Given the description of an element on the screen output the (x, y) to click on. 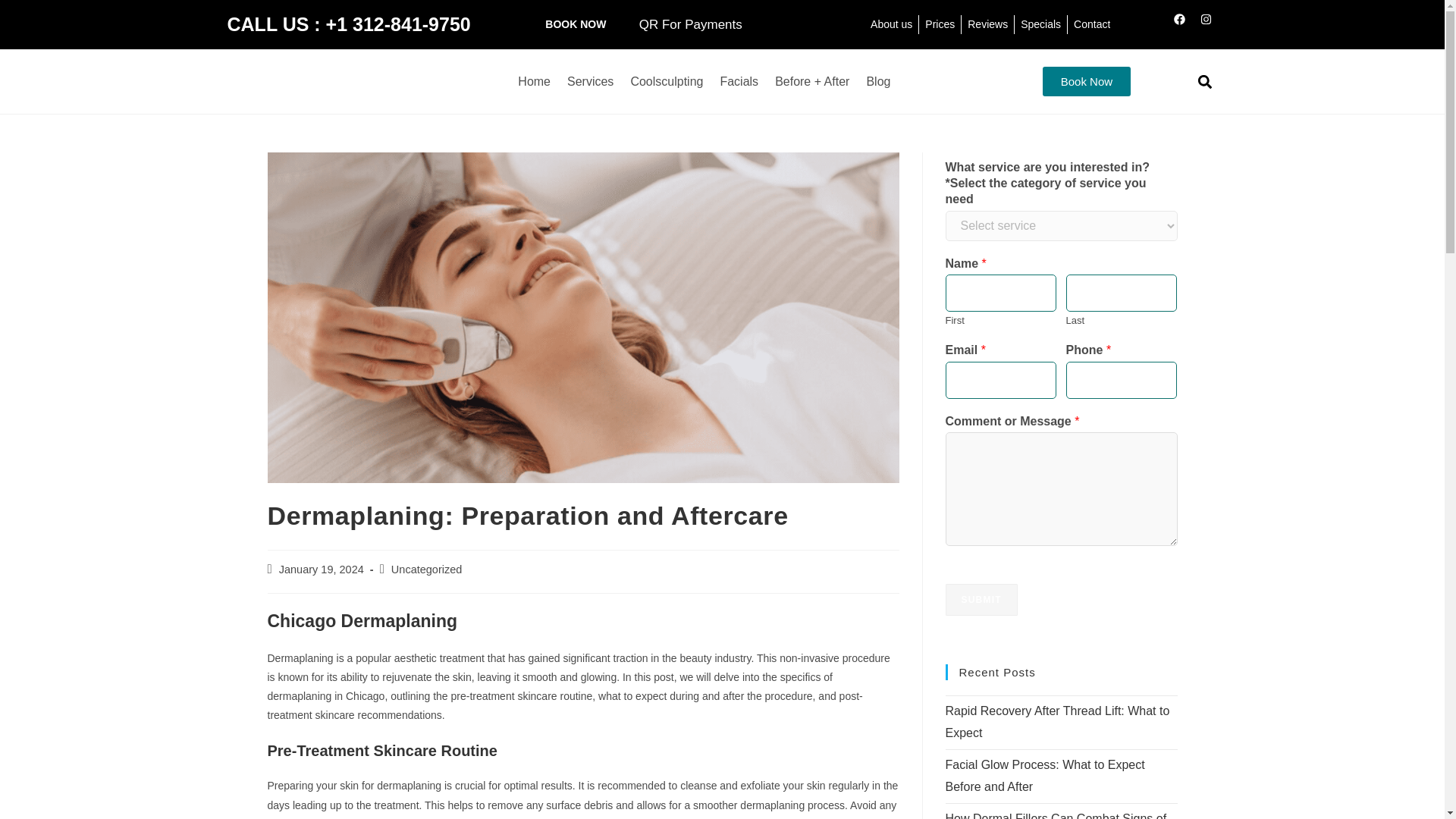
Home (534, 81)
Specials (1040, 24)
Contact (1091, 24)
BOOK NOW (574, 24)
QR For Payments (690, 24)
About us (891, 24)
Prices (939, 24)
Reviews (987, 24)
Services (590, 81)
